Given the description of an element on the screen output the (x, y) to click on. 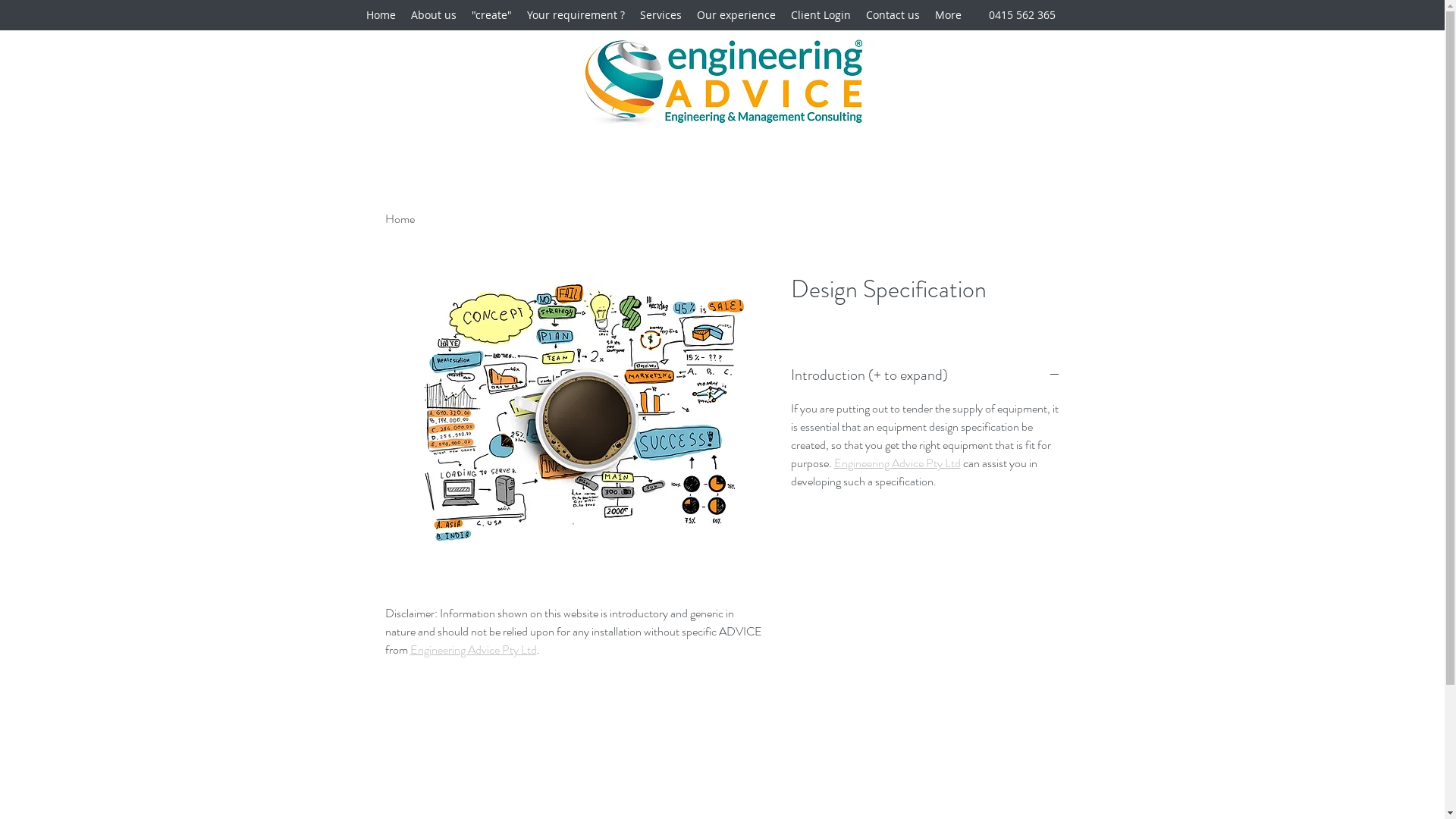
About us Element type: text (433, 14)
Engineering Advice Pty Ltd Element type: text (472, 649)
Home Element type: text (399, 218)
Home Element type: text (379, 14)
Your requirement ? Element type: text (574, 14)
Introduction (+ to expand) Element type: text (924, 375)
Engineering Advice Pty Ltd Element type: text (897, 462)
Services Element type: text (660, 14)
"create" Element type: text (491, 14)
Our experience Element type: text (735, 14)
Contact us Element type: text (892, 14)
Client Login Element type: text (819, 14)
